Given the description of an element on the screen output the (x, y) to click on. 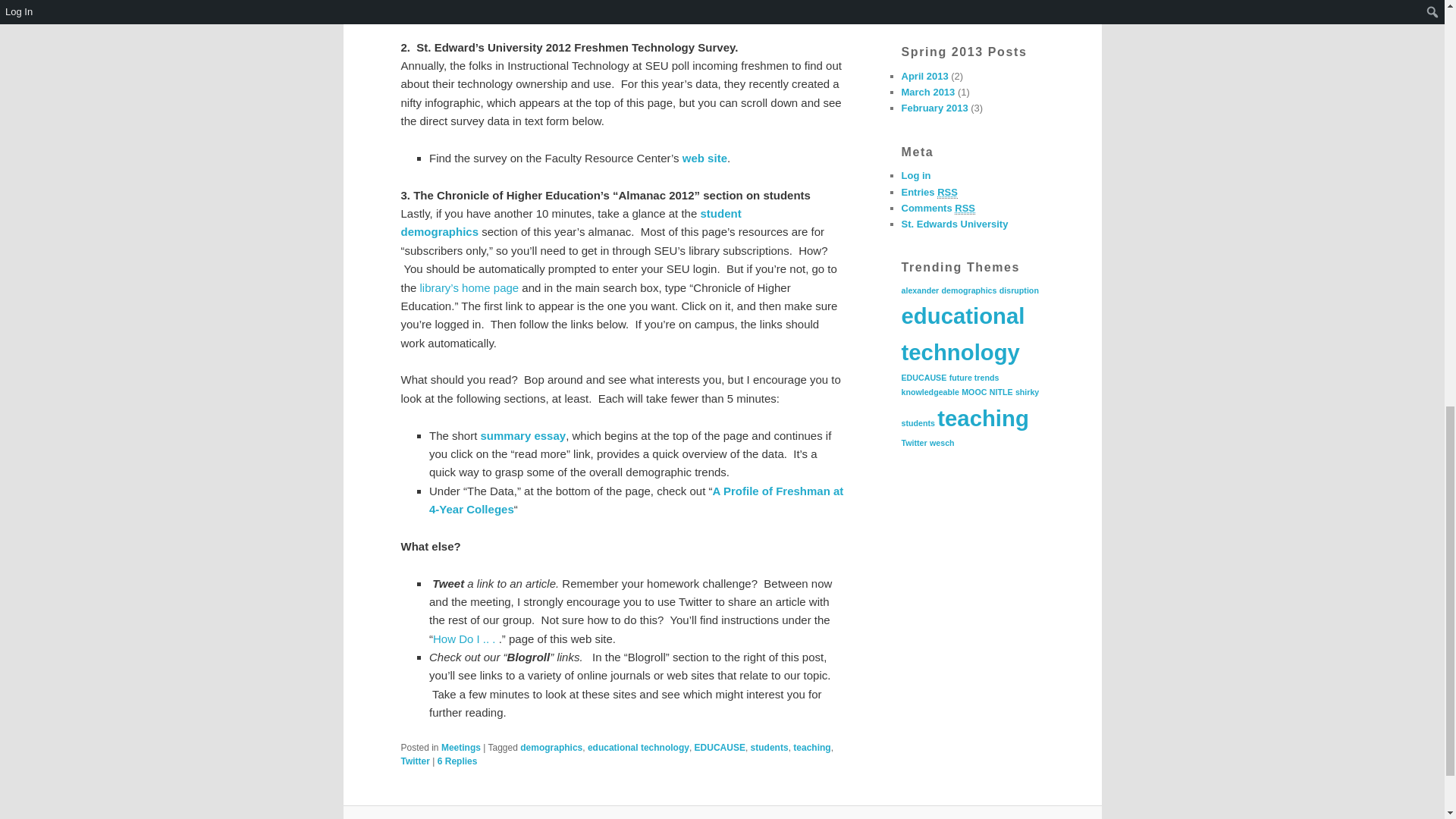
EDUCAUSE (719, 747)
summary essay (523, 435)
Powered by St. Edwards University (954, 224)
supporting materials (613, 10)
Twitter (414, 760)
Meetings (460, 747)
Syndicate this site using RSS 2.0 (928, 192)
How Do I .. . (464, 638)
The latest comments to all posts in RSS (938, 208)
Really Simple Syndication (947, 192)
Really Simple Syndication (965, 208)
6 Replies (457, 760)
students (770, 747)
web site (704, 157)
teaching (811, 747)
